Given the description of an element on the screen output the (x, y) to click on. 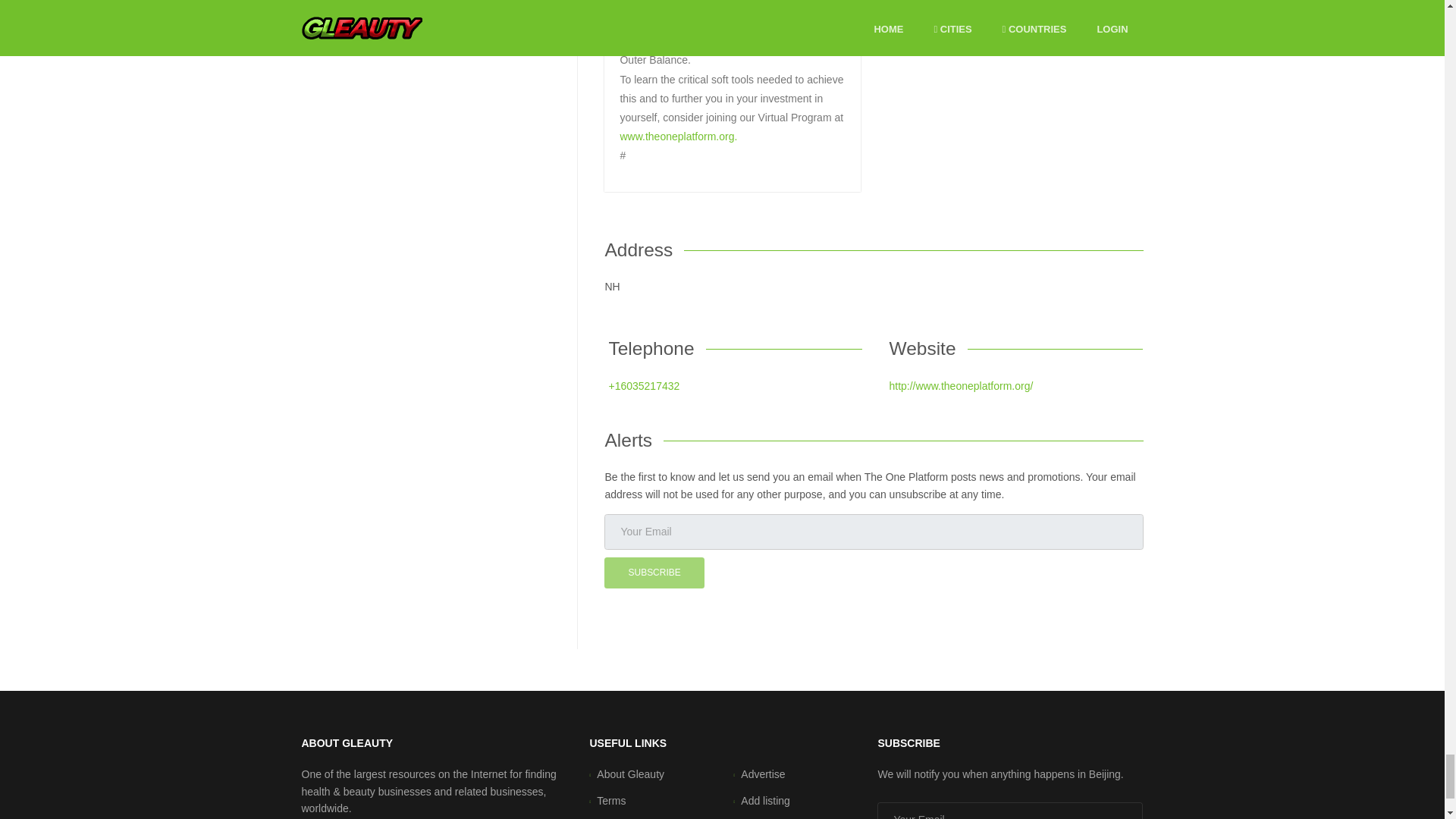
Terms (611, 800)
www.theoneplatform.org. (678, 136)
About Gleauty (629, 773)
SUBSCRIBE (653, 572)
